Given the description of an element on the screen output the (x, y) to click on. 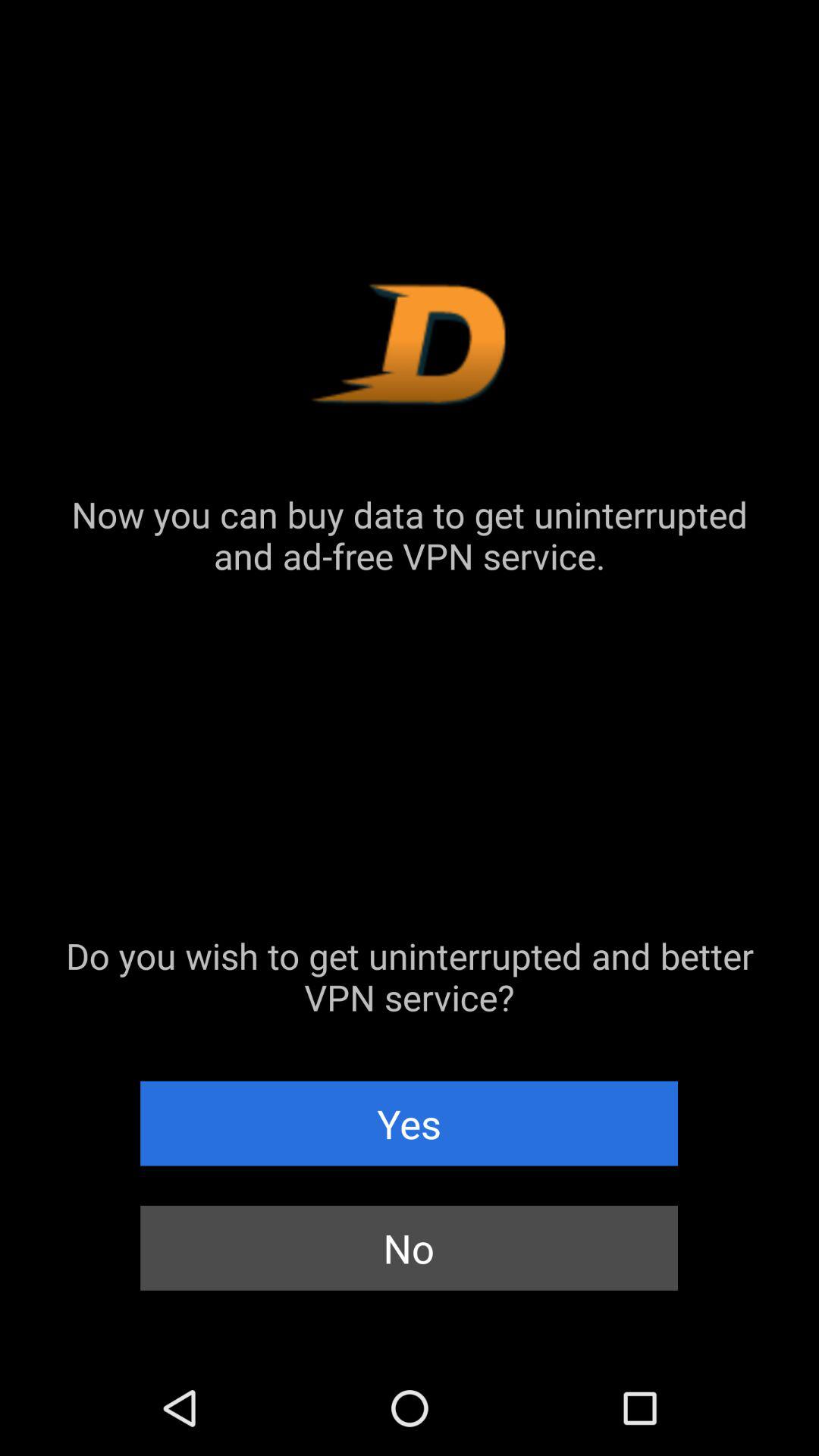
turn on yes (408, 1123)
